Given the description of an element on the screen output the (x, y) to click on. 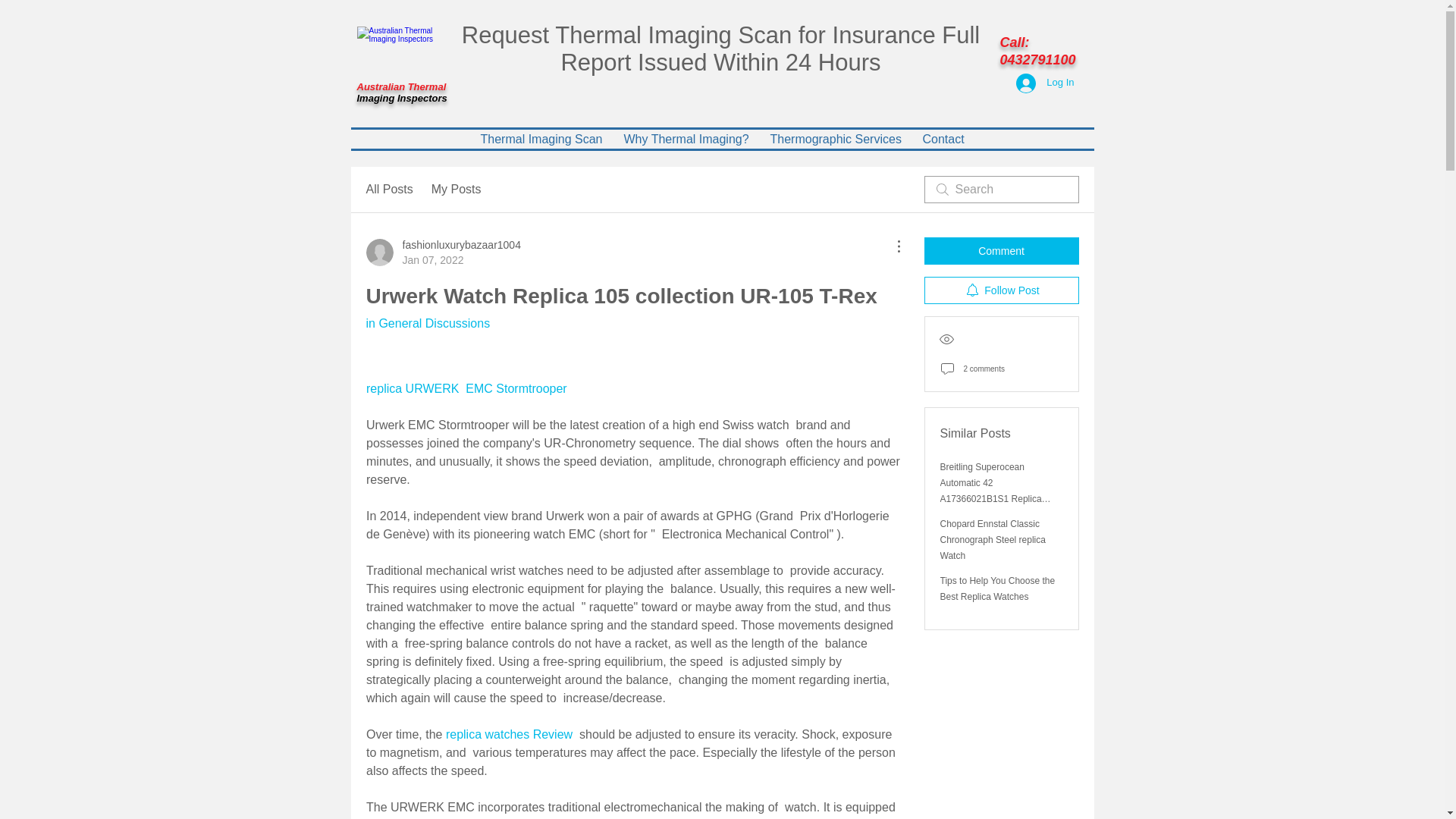
replica watches Review   (511, 734)
replica URWERK  EMC Stormtrooper  (467, 388)
Australian Thermal Imaging Inspectors (400, 51)
Thermal Imaging Scan (442, 252)
Why Thermal Imaging? (541, 138)
in General Discussions (685, 138)
Thermographic Services (427, 323)
Contact (836, 138)
My Posts (942, 138)
